Given the description of an element on the screen output the (x, y) to click on. 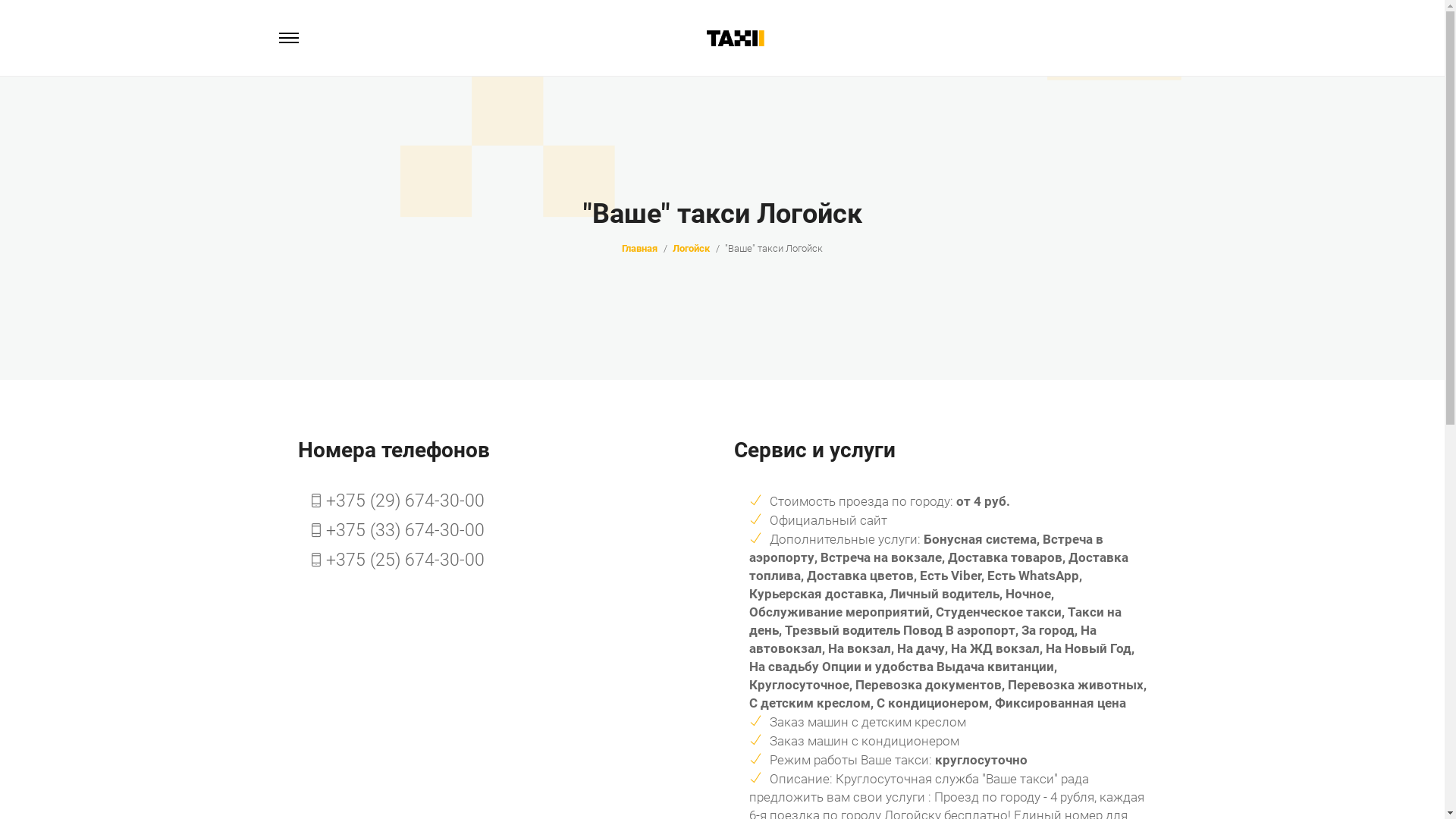
+375 (29) 674-30-00 Element type: text (396, 501)
+375 (25) 674-30-00 Element type: text (396, 560)
+375 (33) 674-30-00 Element type: text (396, 531)
